Given the description of an element on the screen output the (x, y) to click on. 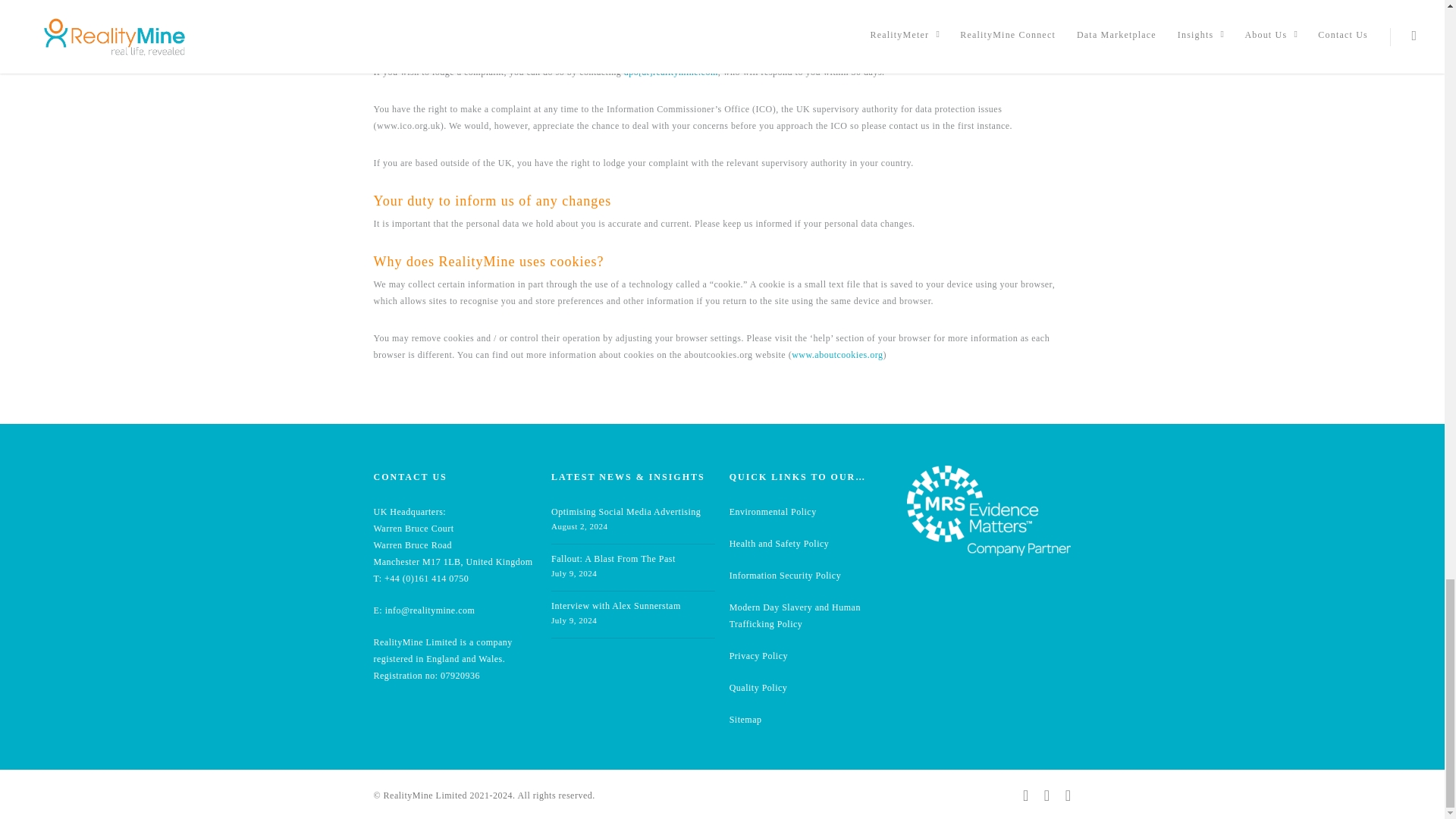
Health and Safety Policy (779, 543)
Optimising Social Media Advertising (625, 511)
Fallout: A Blast From The Past (613, 558)
Environmental Policy (772, 511)
www.aboutcookies.org (837, 354)
Modern Day Slavery and Human Trafficking Policy (794, 615)
Information Security Policy (785, 575)
Interview with Alex Sunnerstam (616, 605)
Privacy Policy (758, 655)
Quality Policy (758, 687)
